Given the description of an element on the screen output the (x, y) to click on. 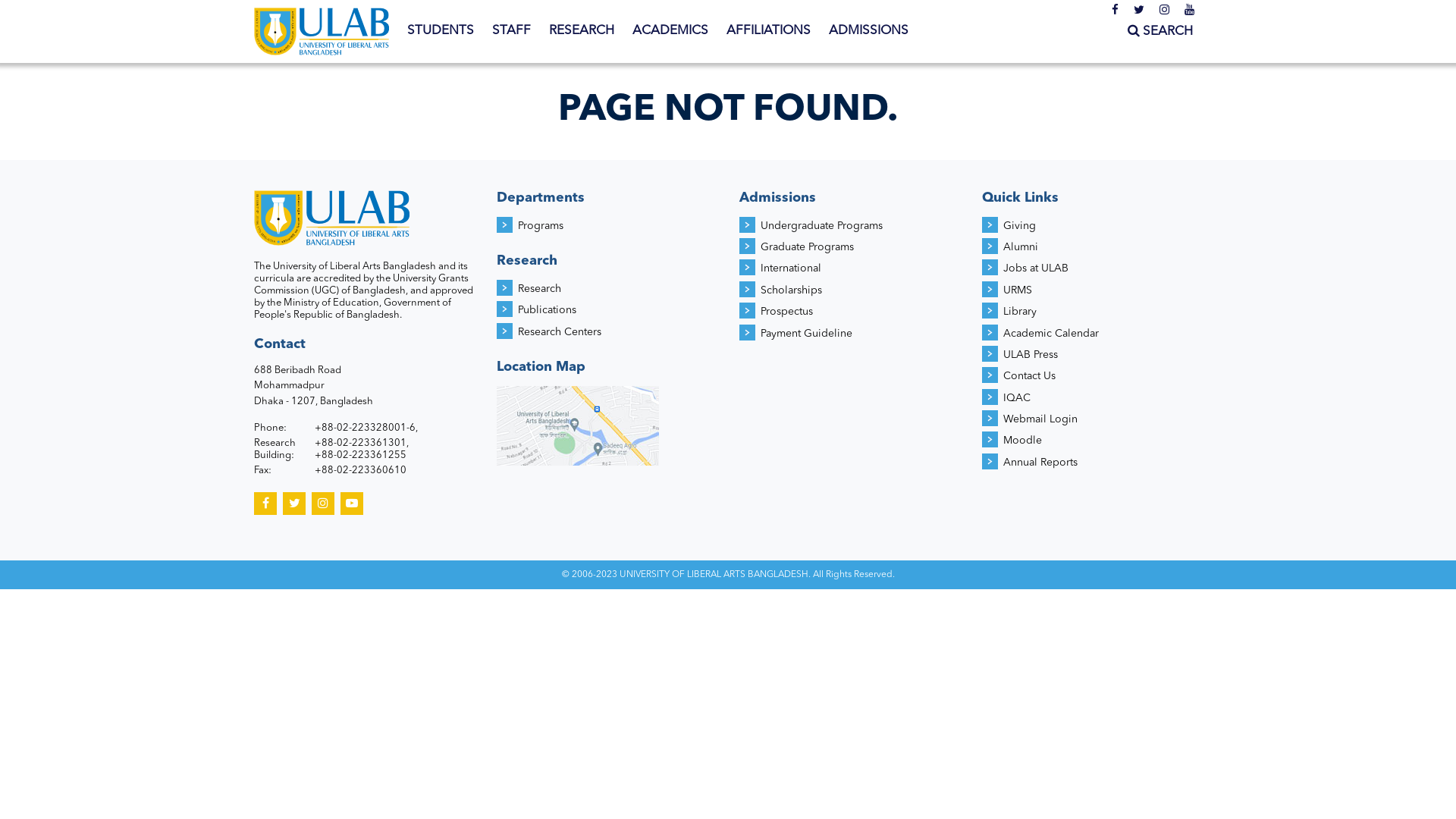
RESEARCH Element type: text (581, 30)
Undergraduate Programs Element type: text (821, 225)
Webmail Login Element type: text (1040, 419)
Research Centers Element type: text (559, 331)
Jobs at ULAB Element type: text (1035, 268)
Scholarships Element type: text (791, 290)
ACADEMICS Element type: text (670, 30)
IQAC Element type: text (1016, 397)
International Element type: text (790, 268)
Moodle Element type: text (1022, 440)
STAFF Element type: text (511, 30)
Giving Element type: text (1019, 225)
Contact Us Element type: text (1029, 375)
Library Element type: text (1019, 311)
Alumni Element type: text (1020, 246)
ADMISSIONS Element type: text (868, 30)
Academic Calendar Element type: text (1050, 333)
AFFILIATIONS Element type: text (768, 30)
Annual Reports Element type: text (1040, 462)
Research Element type: text (539, 288)
Prospectus Element type: text (786, 311)
Payment Guideline Element type: text (806, 333)
Programs Element type: text (540, 225)
Skip to main content Element type: text (61, 0)
ULAB Press Element type: text (1030, 354)
Graduate Programs Element type: text (806, 246)
STUDENTS Element type: text (440, 30)
Publications Element type: text (546, 309)
URMS Element type: text (1017, 290)
SEARCH Element type: text (1159, 31)
